Given the description of an element on the screen output the (x, y) to click on. 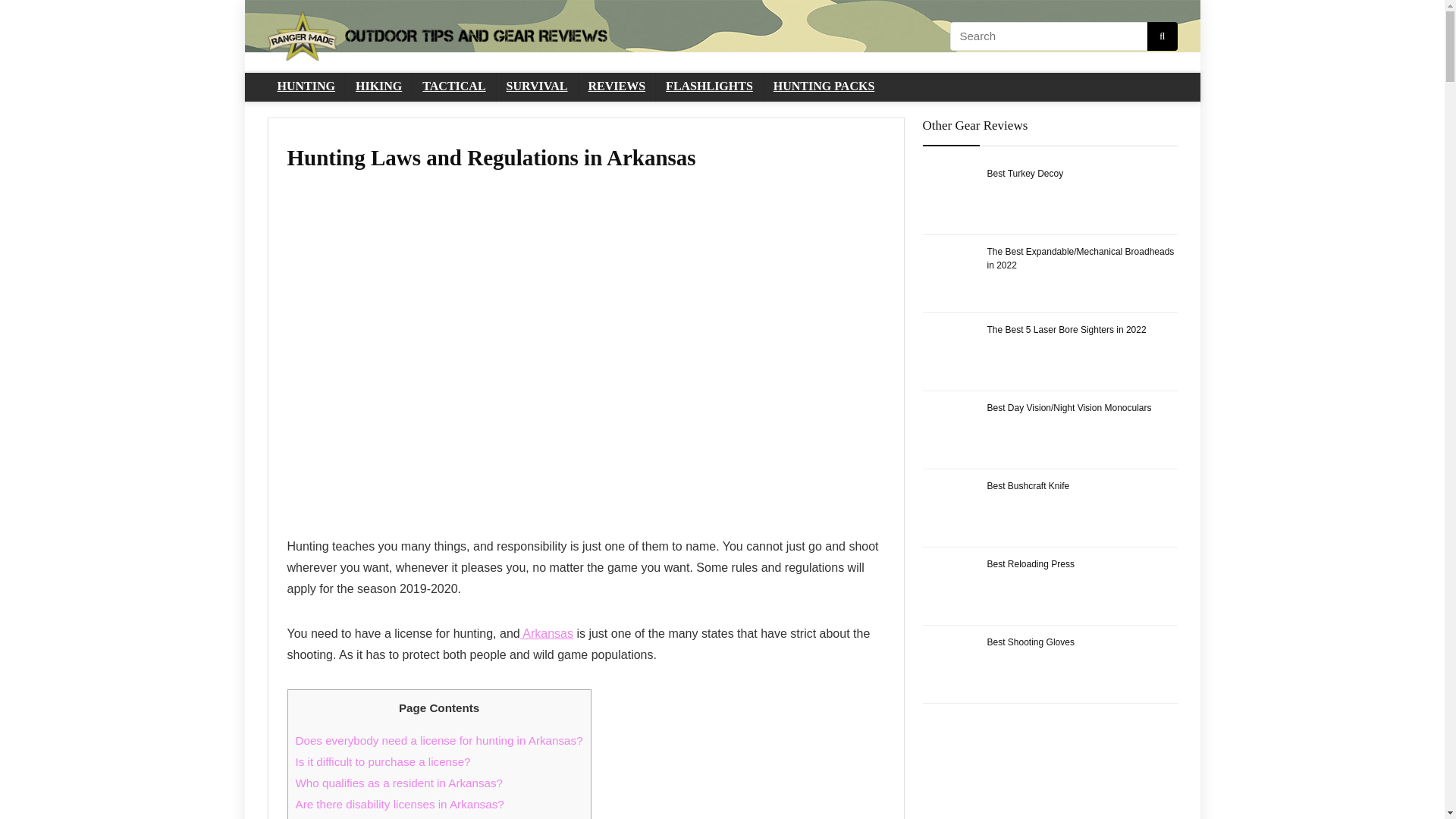
Arkansas (546, 633)
Does everybody need a license for hunting in Arkansas? (439, 739)
HUNTING (304, 86)
Are there disability licenses in Arkansas? (399, 803)
REVIEWS (617, 86)
Is it difficult to purchase a license? (382, 761)
HUNTING PACKS (823, 86)
FLASHLIGHTS (709, 86)
TACTICAL (453, 86)
HIKING (379, 86)
Who qualifies as a resident in Arkansas? (399, 782)
SURVIVAL (537, 86)
